Given the description of an element on the screen output the (x, y) to click on. 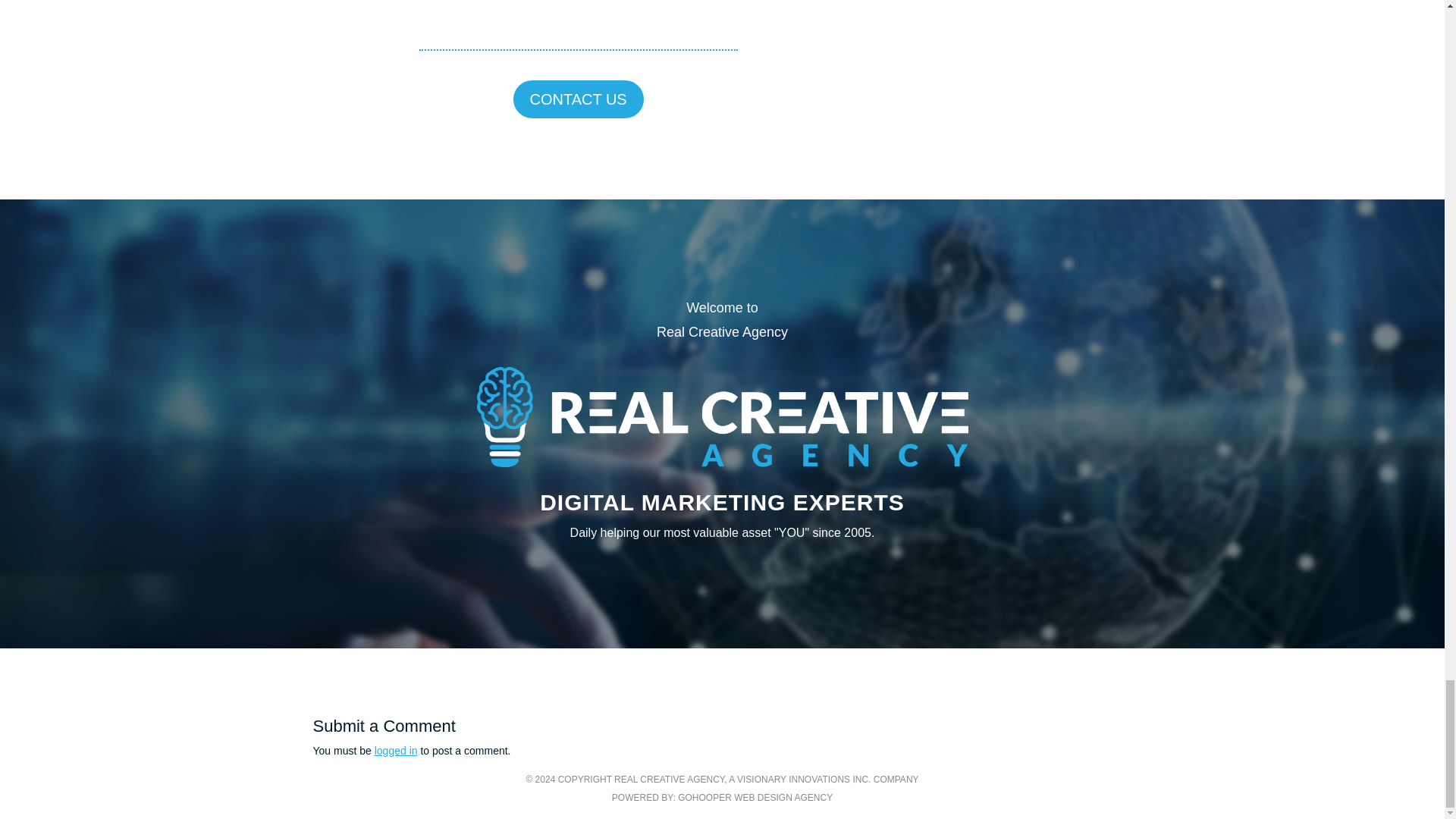
CONTACT US (578, 98)
